Given the description of an element on the screen output the (x, y) to click on. 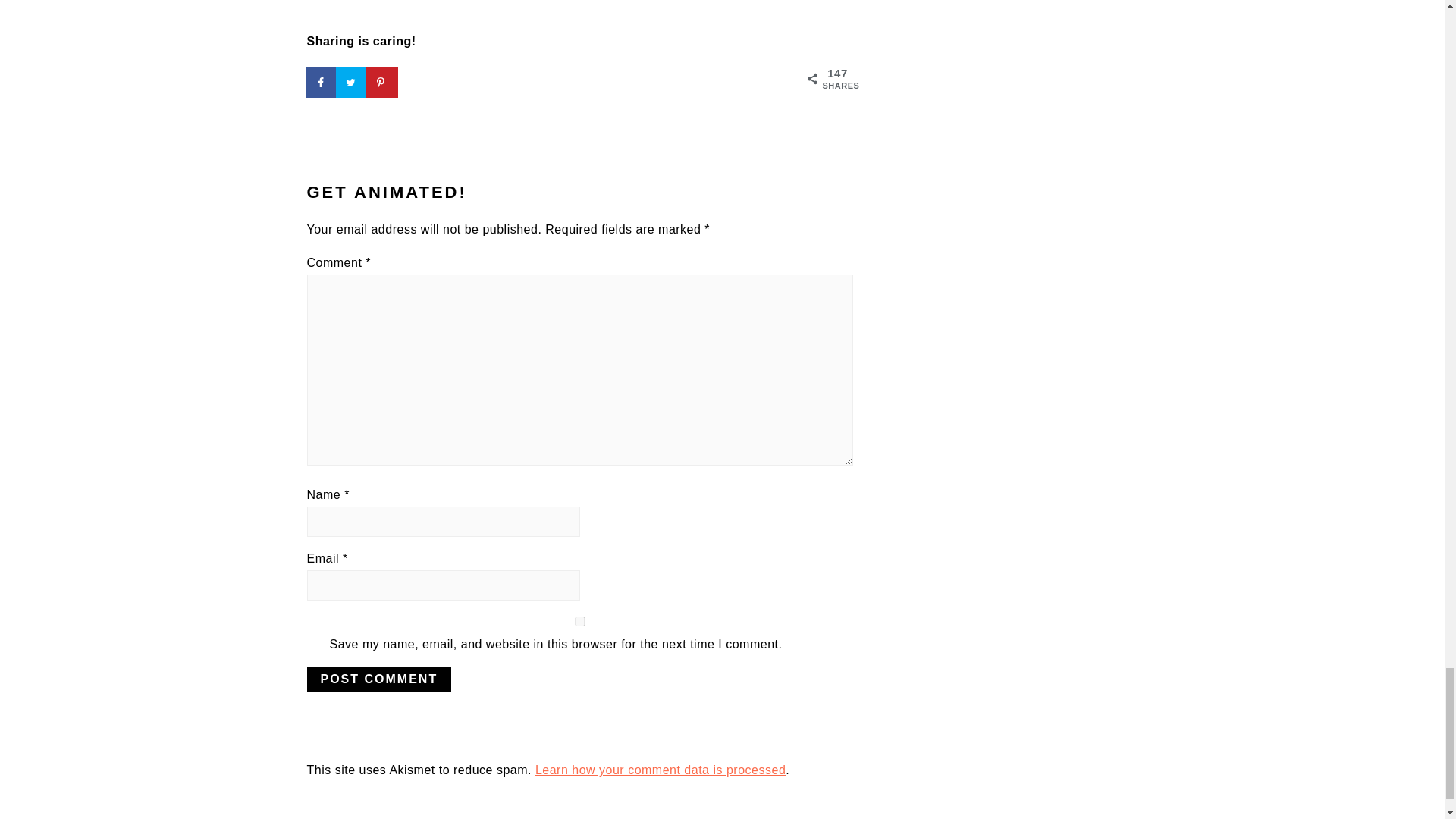
Post Comment (378, 679)
Save to Pinterest (381, 82)
Share on Twitter (351, 82)
yes (578, 621)
Share on Facebook (320, 82)
